Given the description of an element on the screen output the (x, y) to click on. 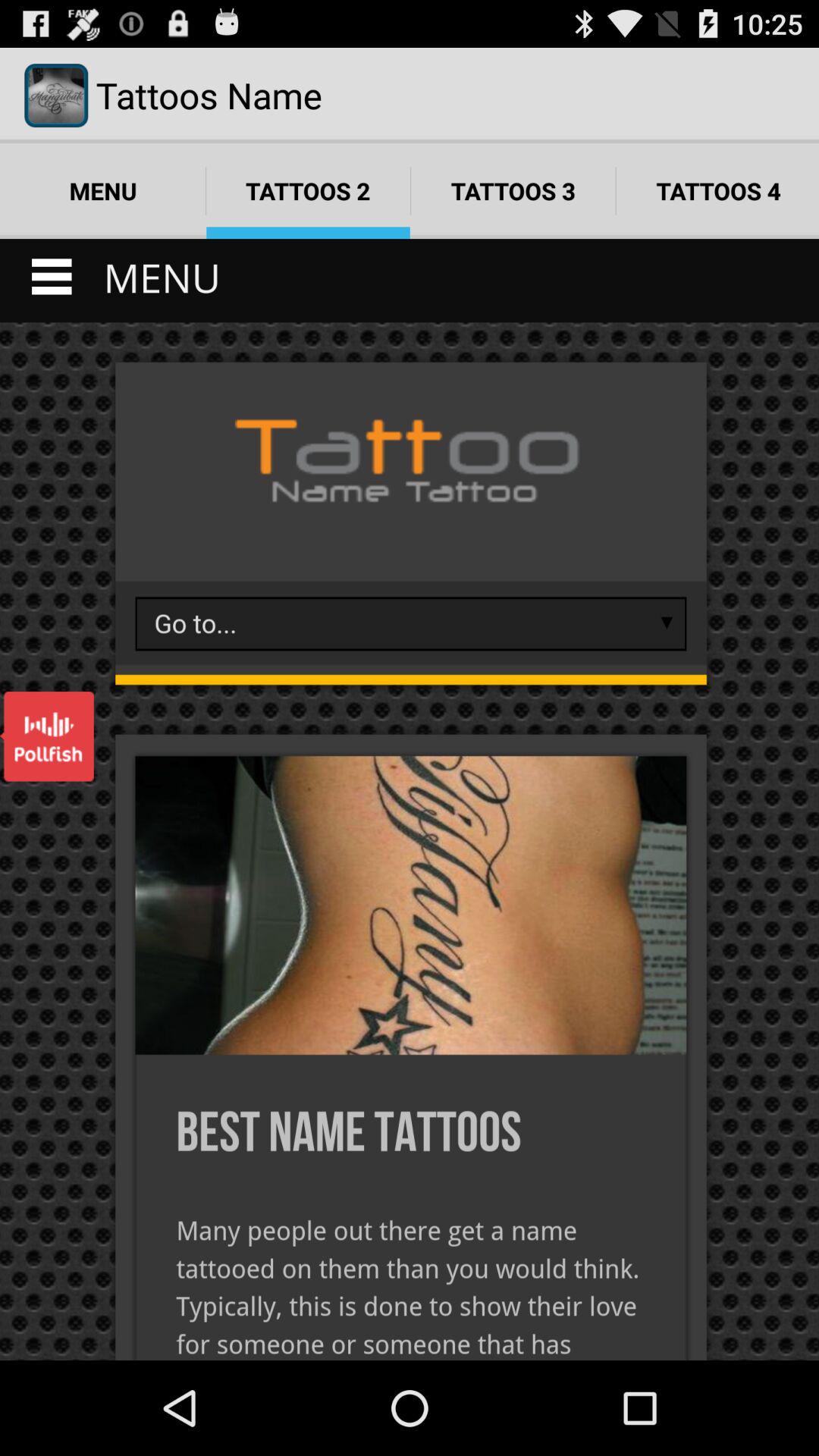
open the item (46, 736)
